Given the description of an element on the screen output the (x, y) to click on. 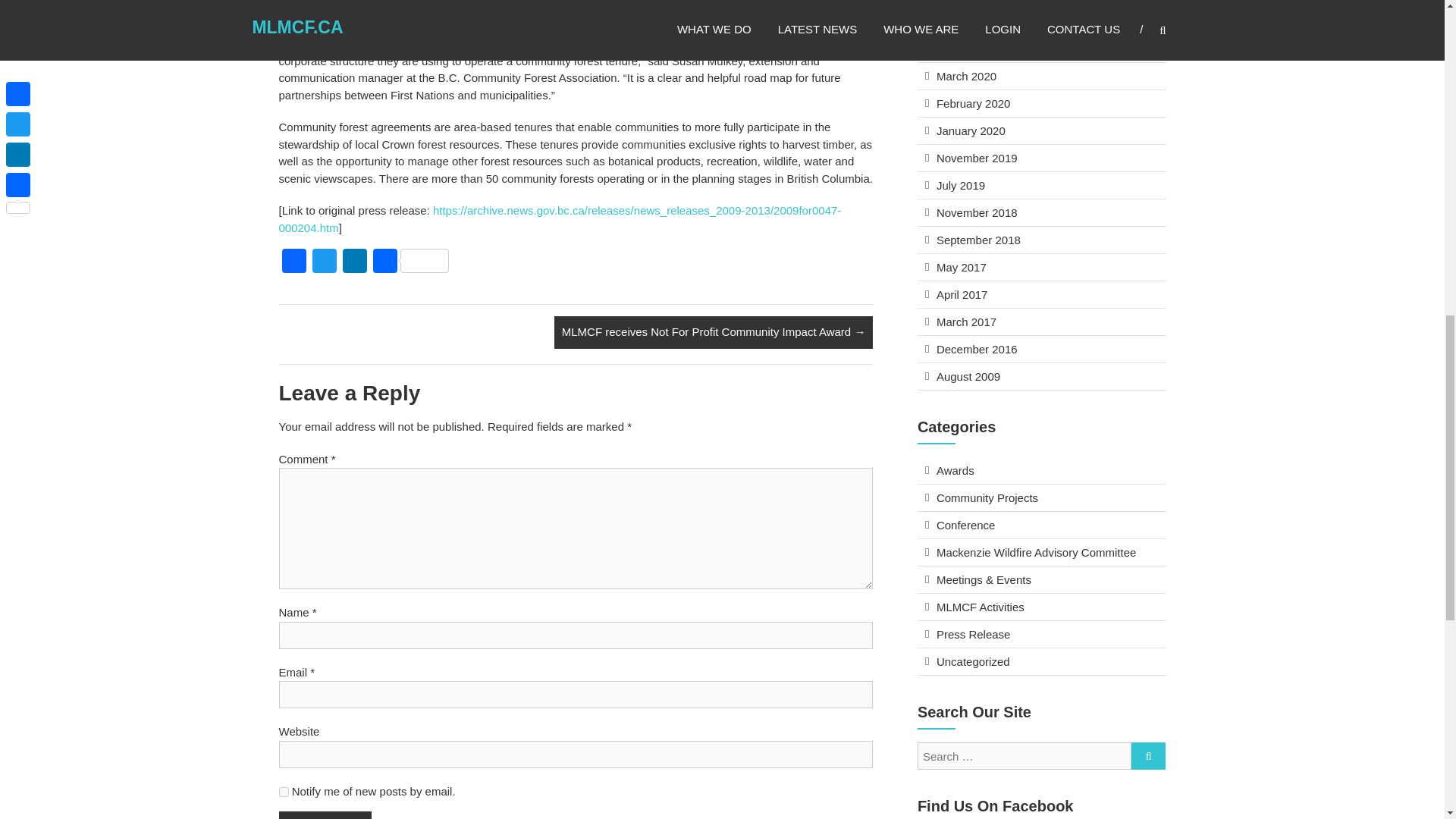
LinkedIn (354, 262)
Facebook (293, 262)
Post Comment (325, 815)
Twitter (323, 262)
Share (410, 262)
Twitter (323, 262)
Post Comment (325, 815)
Facebook (293, 262)
LinkedIn (354, 262)
subscribe (283, 791)
